Given the description of an element on the screen output the (x, y) to click on. 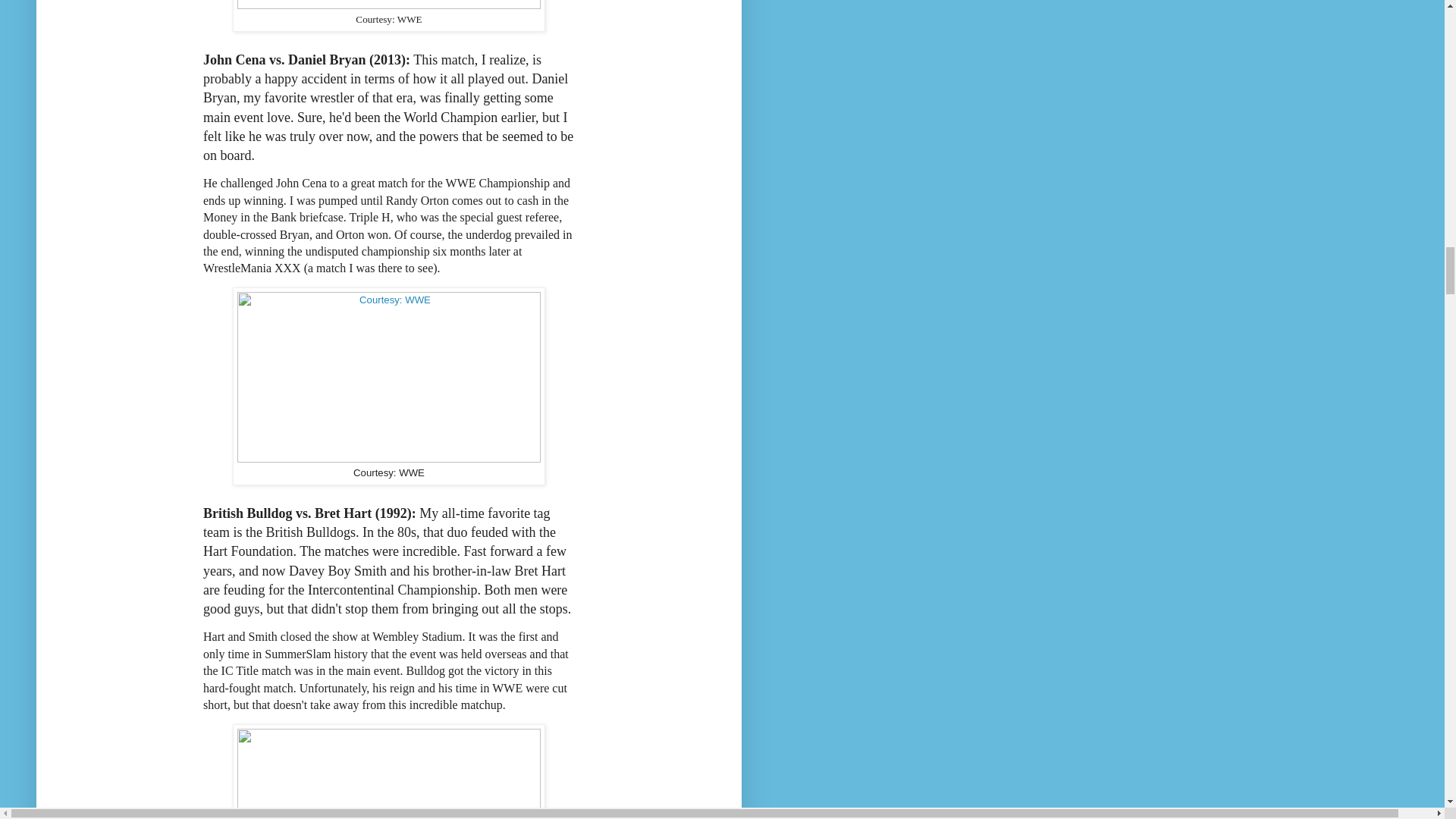
Courtesy: WWE (388, 376)
